Given the description of an element on the screen output the (x, y) to click on. 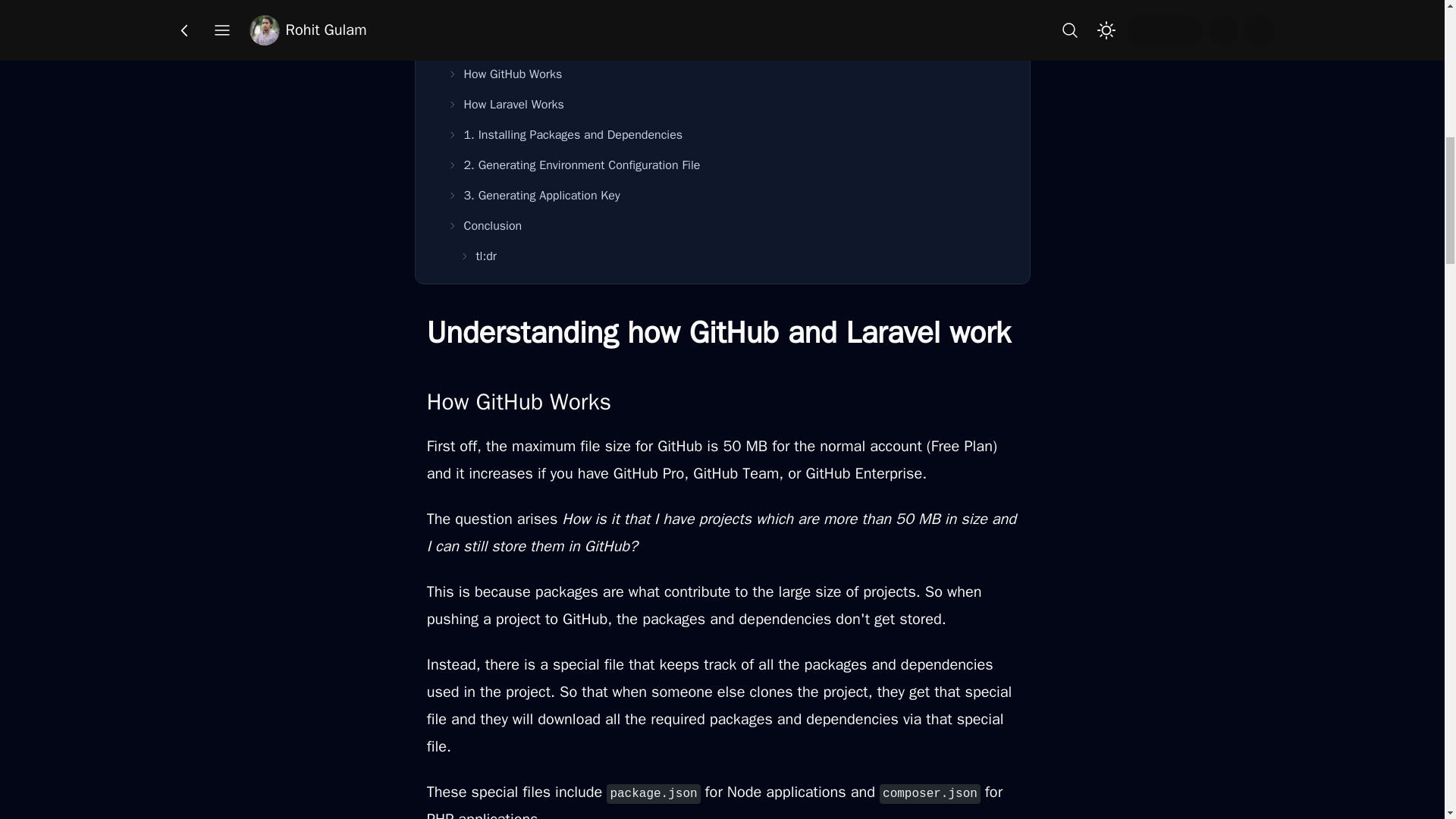
How GitHub Works (728, 73)
Understanding how GitHub and Laravel work (722, 43)
3. Generating Application Key (728, 195)
How Laravel Works (728, 104)
2. Generating Environment Configuration File (728, 164)
tl:dr (734, 255)
Conclusion (728, 225)
1. Installing Packages and Dependencies (728, 134)
